Given the description of an element on the screen output the (x, y) to click on. 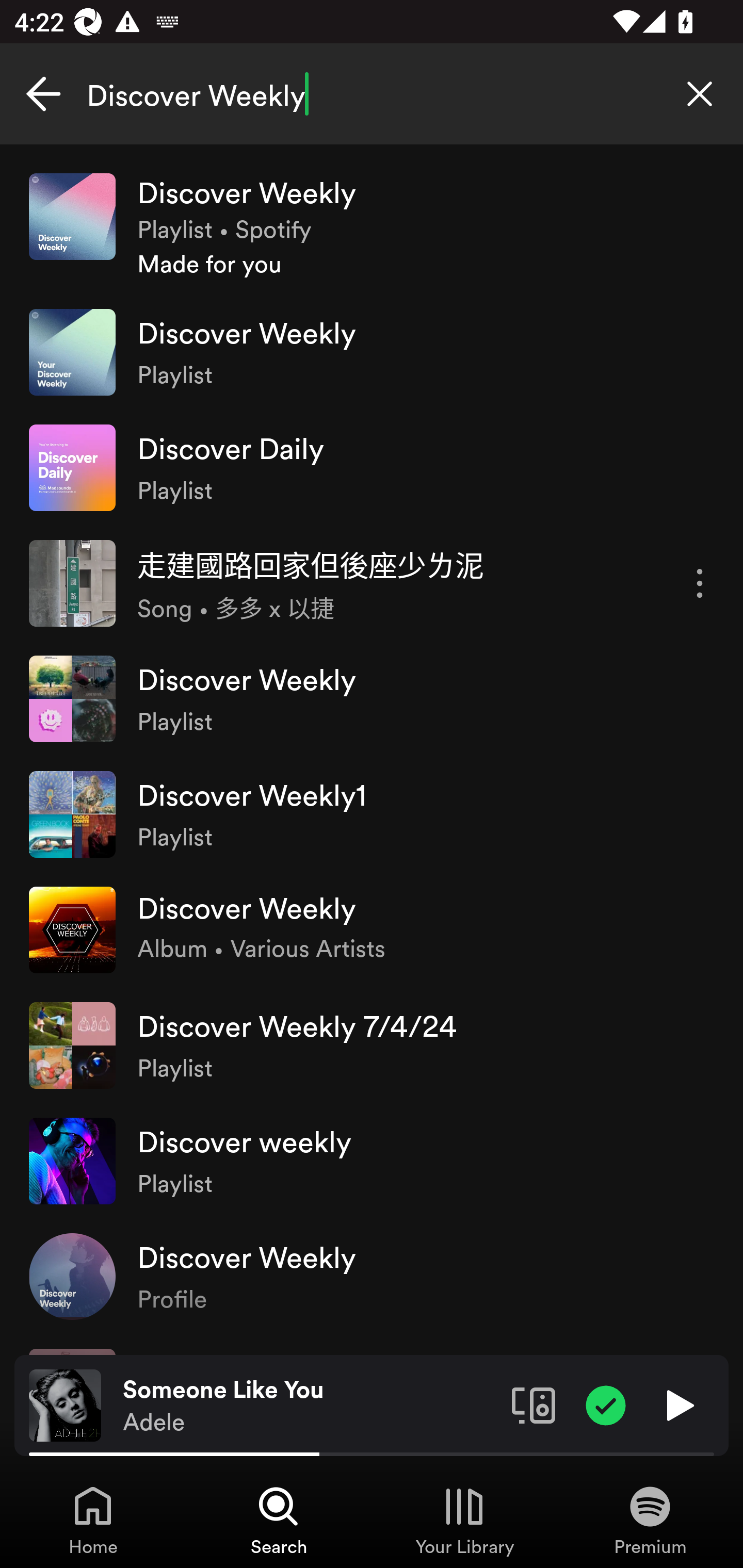
Discover Weekly (371, 93)
Cancel (43, 93)
Clear search query (699, 93)
Discover Weekly Playlist • Spotify Made for you (371, 226)
Discover Weekly Playlist (371, 352)
Discover Daily Playlist (371, 467)
More options for song 走建國路回家但後座少ㄌ泥 (699, 583)
Discover Weekly Playlist (371, 699)
Discover Weekly1 Playlist (371, 814)
Discover Weekly Album • Various Artists (371, 929)
Discover Weekly 7/4/24 Playlist (371, 1045)
Discover weekly Playlist (371, 1160)
Discover Weekly Profile (371, 1276)
Someone Like You Adele (309, 1405)
The cover art of the currently playing track (64, 1404)
Connect to a device. Opens the devices menu (533, 1404)
Item added (605, 1404)
Play (677, 1404)
Home, Tab 1 of 4 Home Home (92, 1519)
Search, Tab 2 of 4 Search Search (278, 1519)
Your Library, Tab 3 of 4 Your Library Your Library (464, 1519)
Premium, Tab 4 of 4 Premium Premium (650, 1519)
